Given the description of an element on the screen output the (x, y) to click on. 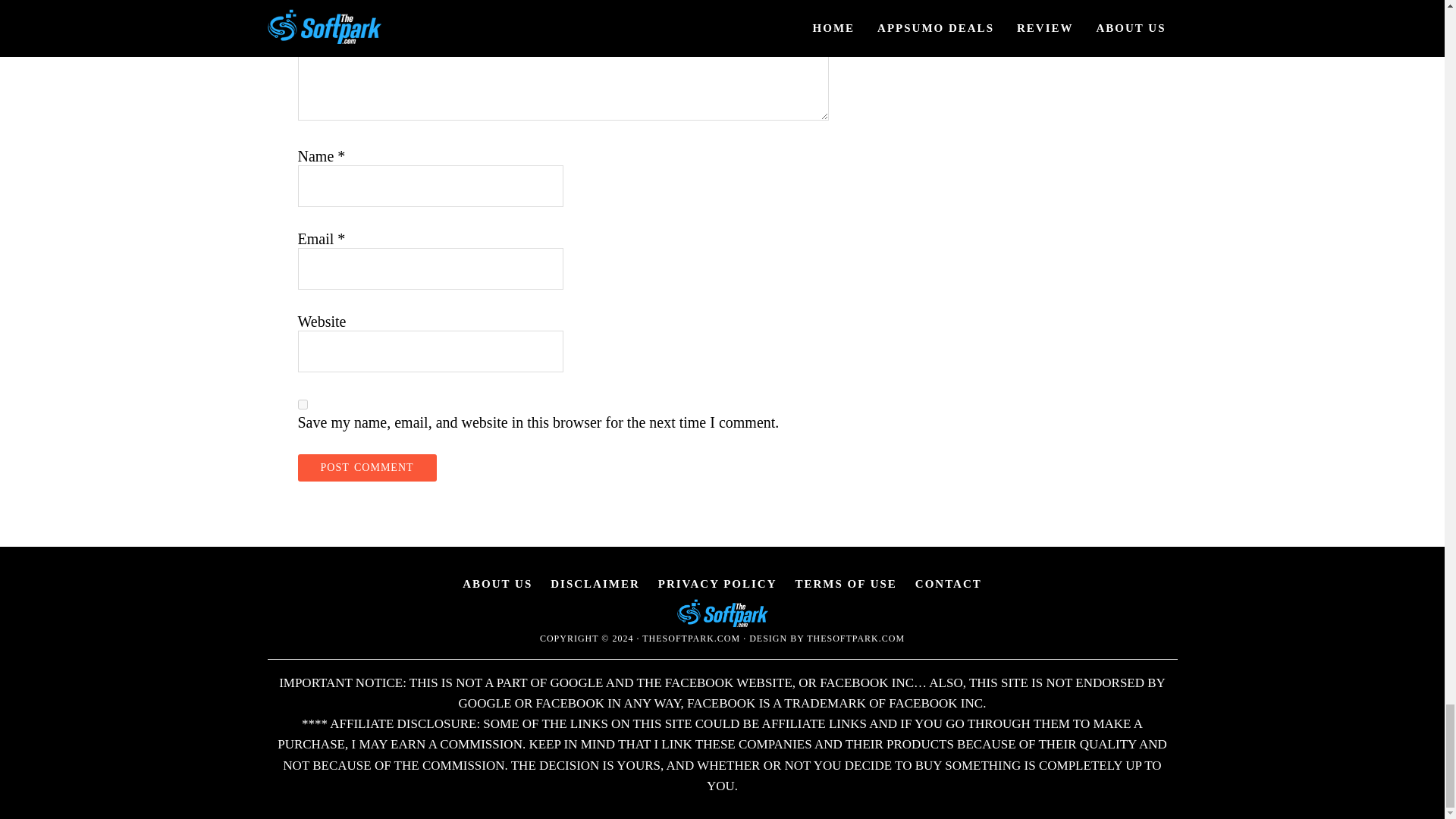
Post Comment (366, 467)
Post Comment (366, 467)
ABOUT US (496, 583)
yes (302, 404)
PRIVACY POLICY (717, 583)
DISCLAIMER (595, 583)
